Given the description of an element on the screen output the (x, y) to click on. 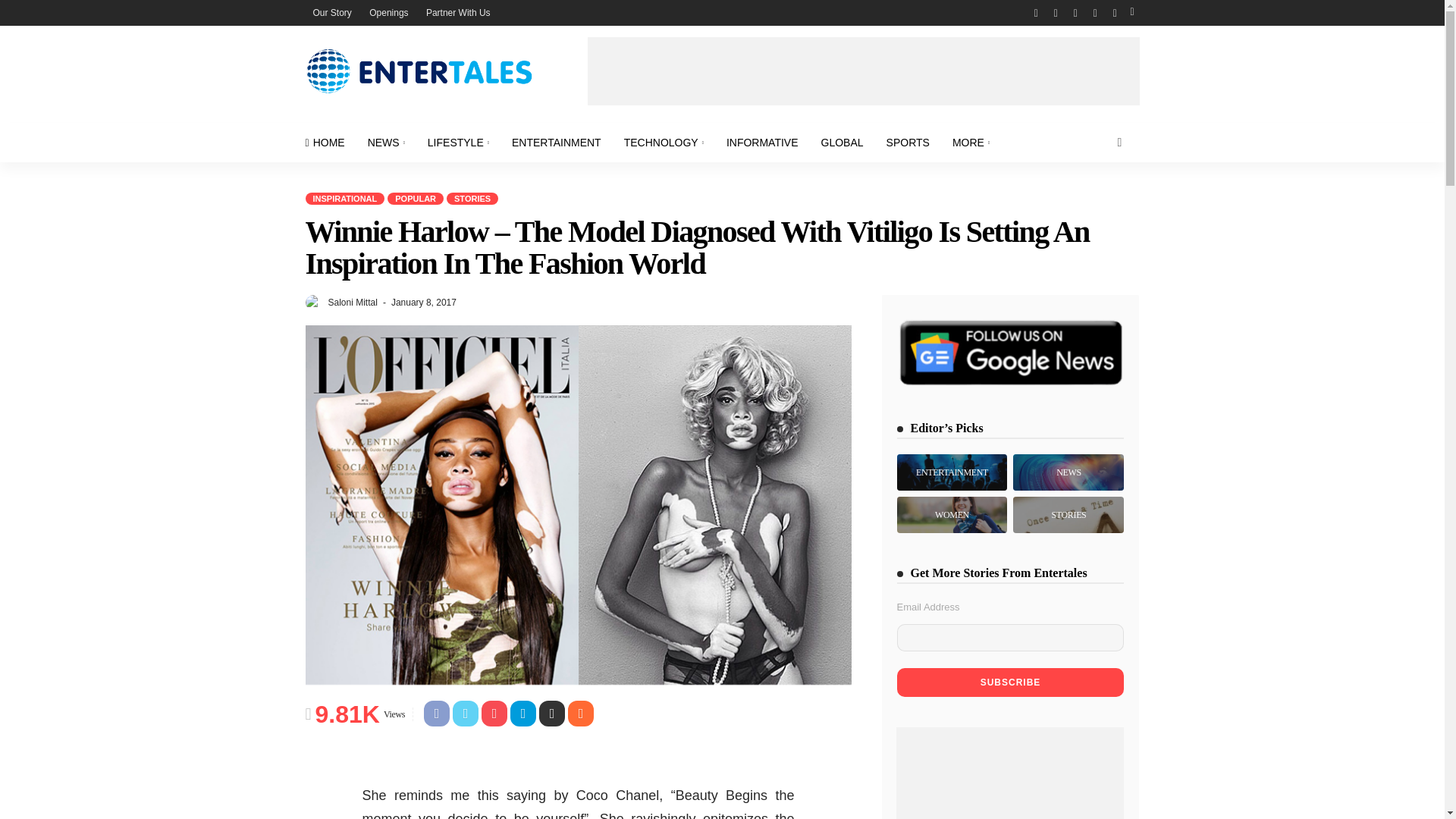
Openings (387, 12)
Subscribe (1010, 682)
Partner With Us (458, 12)
Our Story (331, 12)
